Given the description of an element on the screen output the (x, y) to click on. 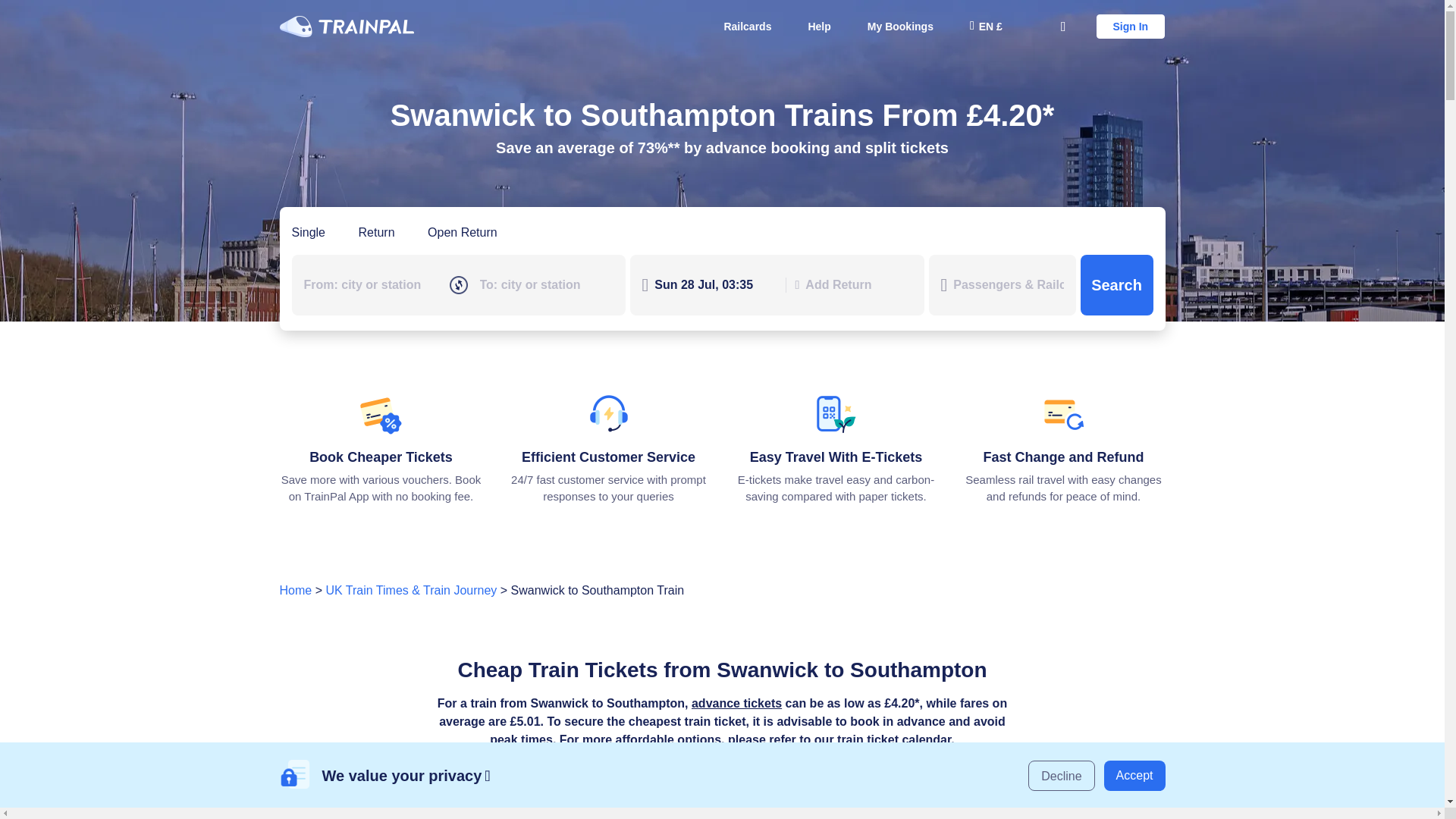
Help (818, 26)
Railcards (747, 26)
My Bookings (900, 26)
Sun 28 Jul, 03:35 (714, 284)
Sign In (1131, 26)
